Given the description of an element on the screen output the (x, y) to click on. 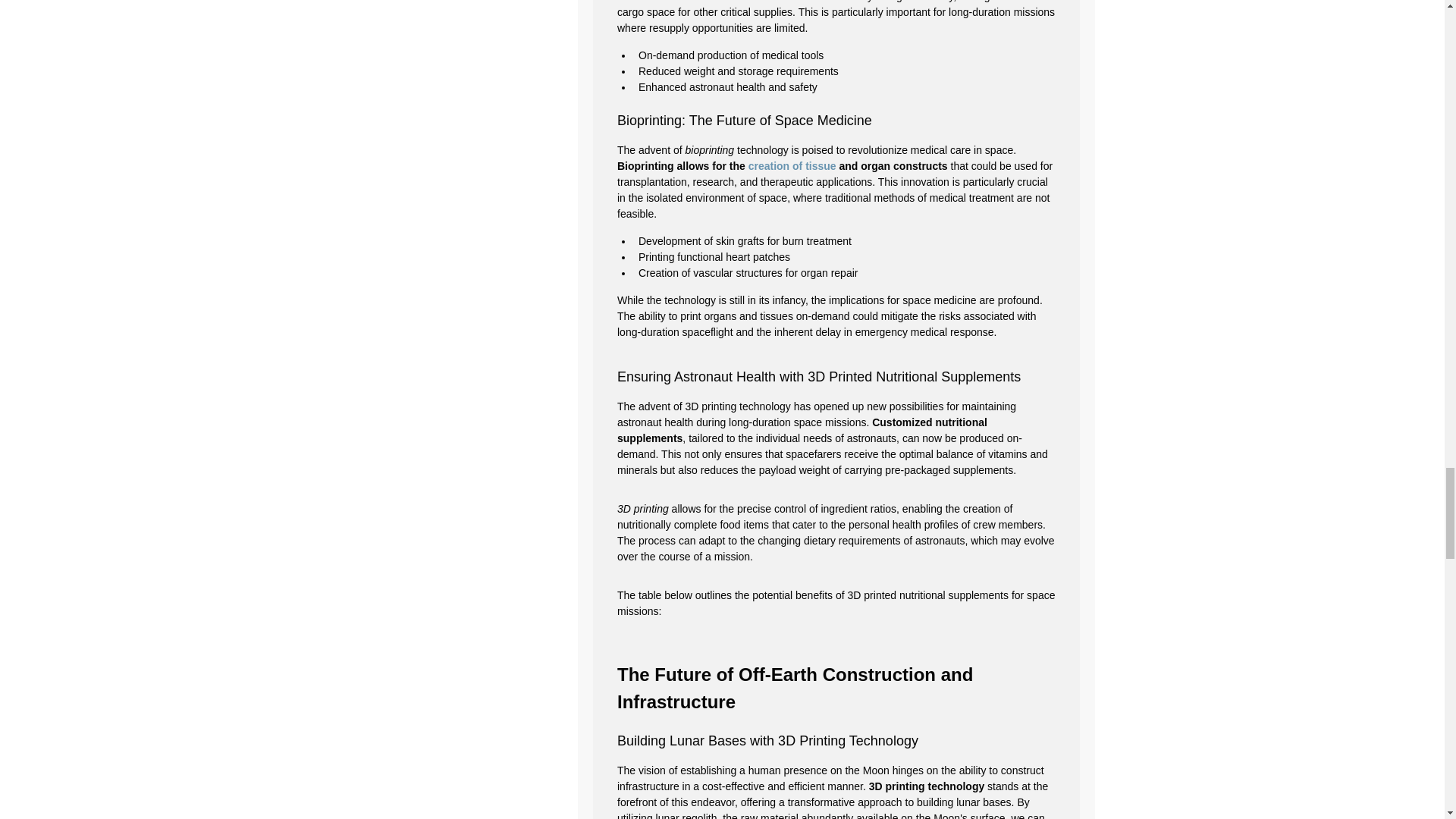
creation of tissue (791, 165)
